Given the description of an element on the screen output the (x, y) to click on. 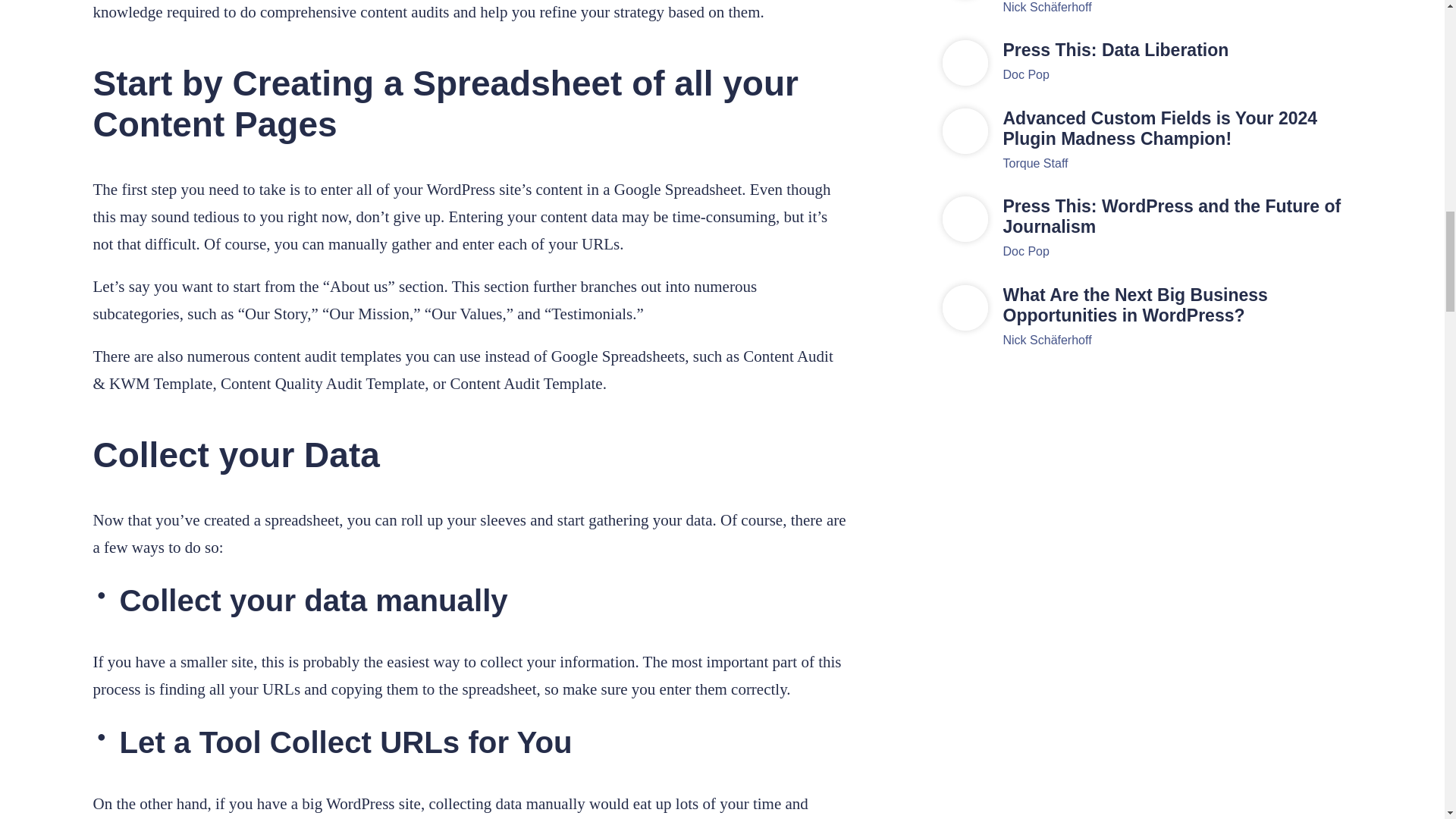
Press This: Data Liberation (1177, 50)
Doc Pop (1025, 74)
Press This: WordPress and the Future of Journalism (1177, 216)
Torque Staff (1035, 163)
